Given the description of an element on the screen output the (x, y) to click on. 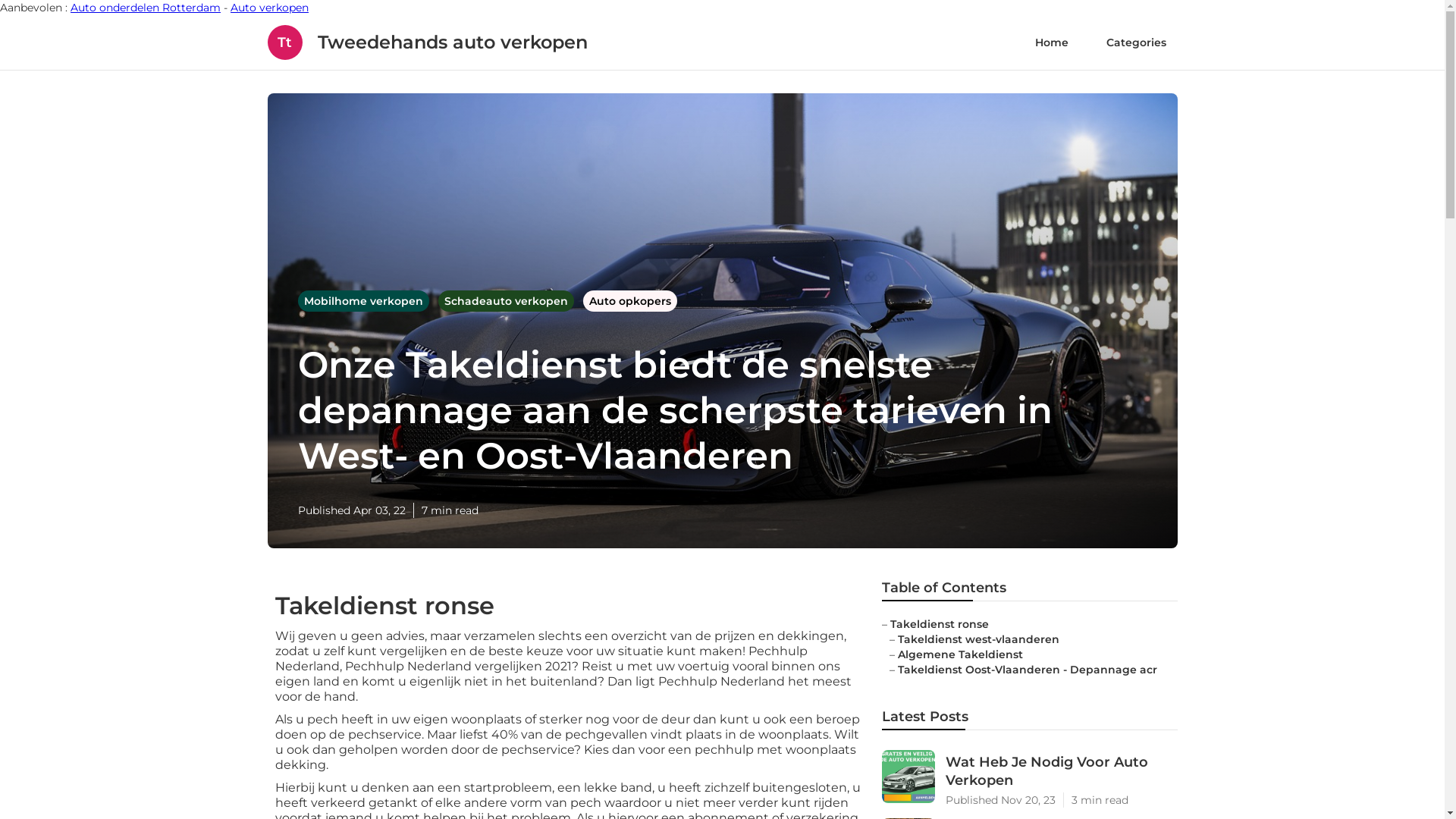
Algemene Takeldienst Element type: text (959, 654)
Auto onderdelen Rotterdam Element type: text (145, 7)
Auto opkopers Element type: text (629, 300)
Auto verkopen Element type: text (269, 7)
Takeldienst Oost-Vlaanderen - Depannage acr Element type: text (1027, 669)
Home Element type: text (1051, 42)
Categories Element type: text (1136, 42)
Mobilhome verkopen Element type: text (364, 300)
Takeldienst west-vlaanderen Element type: text (978, 639)
Schadeauto verkopen Element type: text (507, 300)
Takeldienst ronse Element type: text (939, 623)
